Given the description of an element on the screen output the (x, y) to click on. 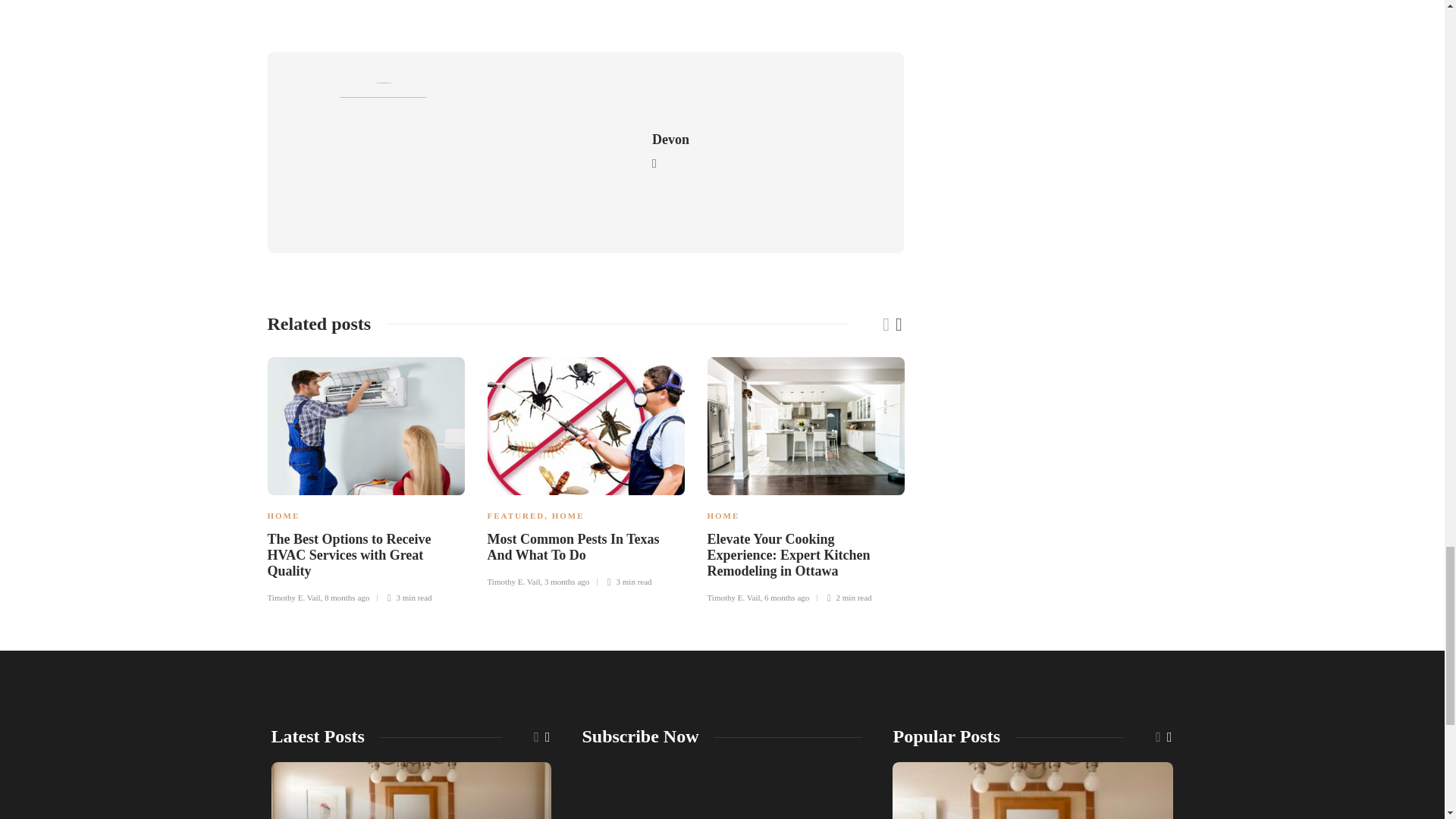
Devon (670, 139)
